Given the description of an element on the screen output the (x, y) to click on. 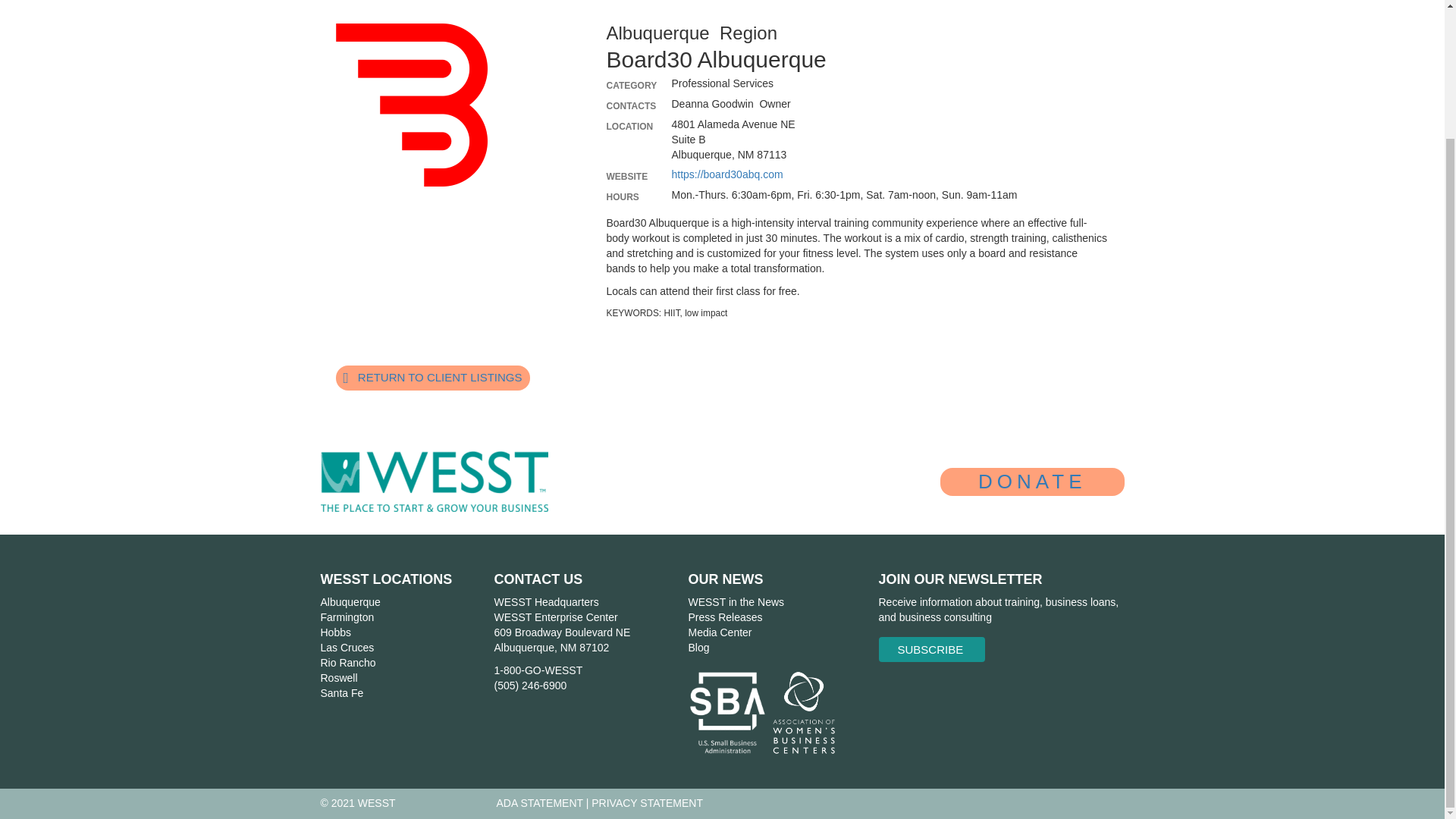
Roswell (338, 677)
WESST in the News (735, 602)
Hobbs (335, 632)
sba-women-biz-combined (762, 712)
Press Releases (724, 616)
WESST-logo-H-with-tag-and-TM-400 (433, 481)
RETURN TO CLIENT LISTINGS (431, 377)
Santa Fe (341, 693)
Las Cruces (347, 647)
DONATE (1032, 481)
